Given the description of an element on the screen output the (x, y) to click on. 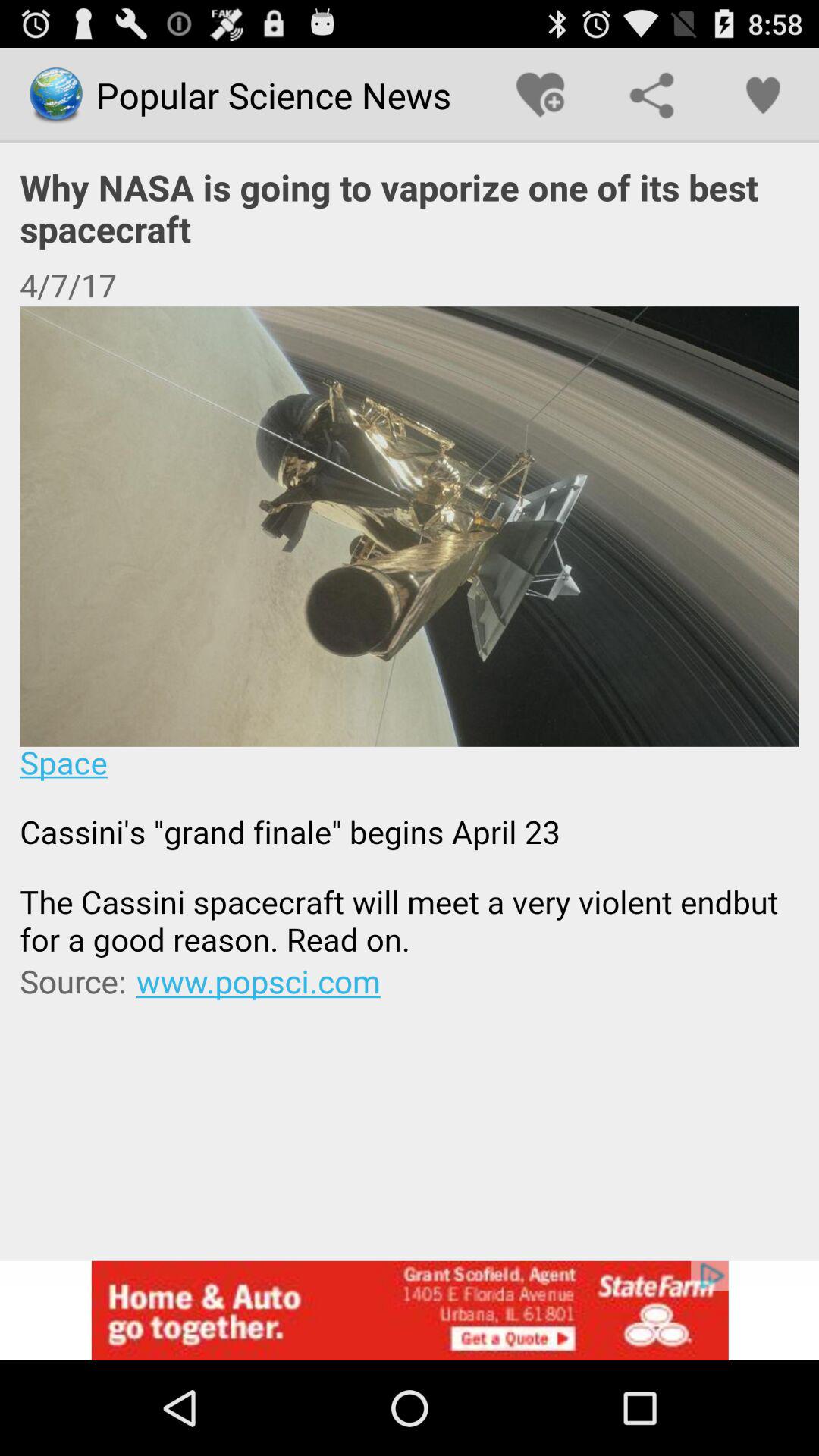
advertisement (409, 1310)
